Given the description of an element on the screen output the (x, y) to click on. 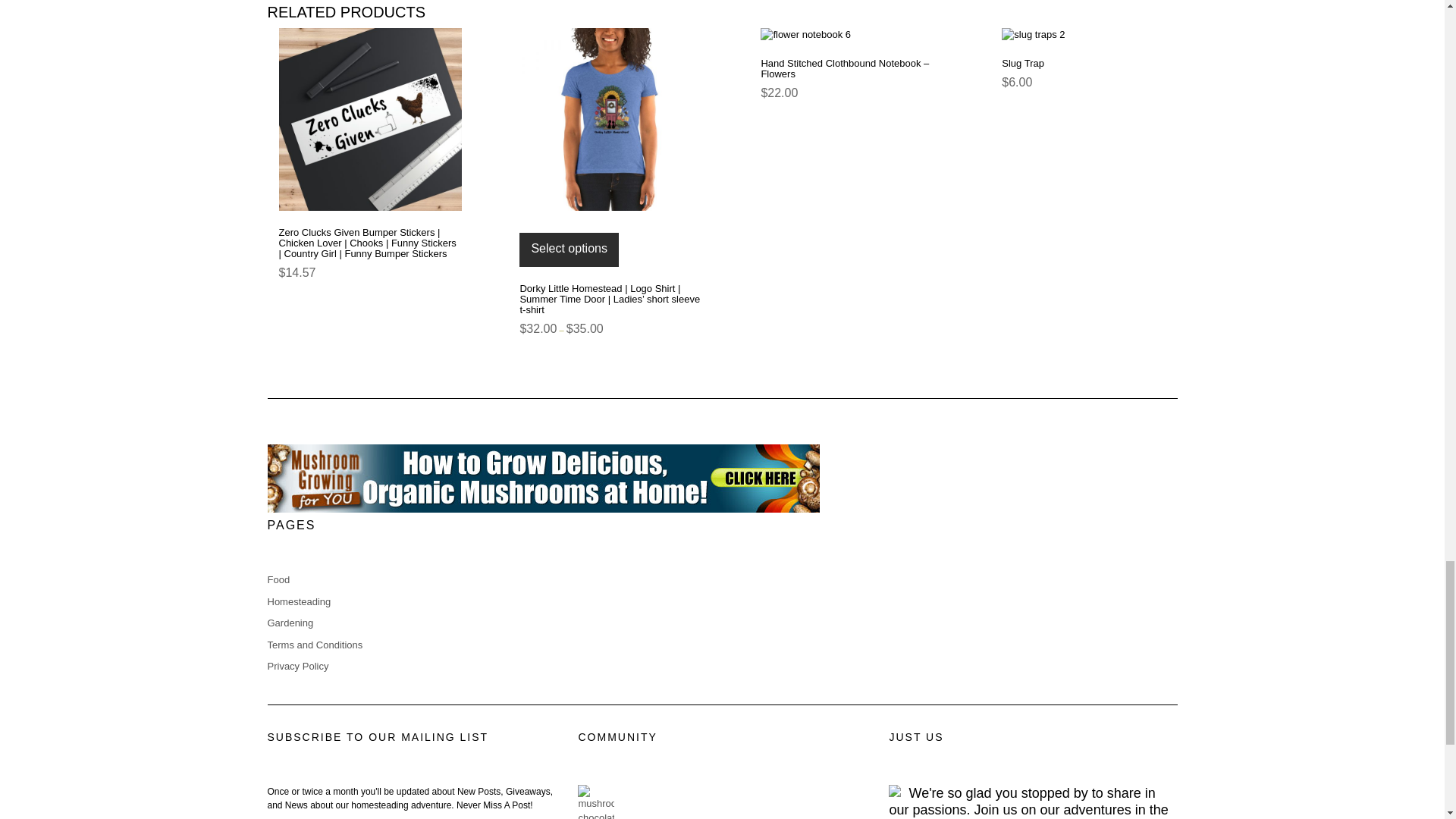
slug traps 2 (1093, 34)
womens-tri-blend-tee-blue-triblend-front-60d24999ae1ef.jpg (610, 118)
71930.jpg (370, 118)
flower notebook 6 (851, 34)
